Given the description of an element on the screen output the (x, y) to click on. 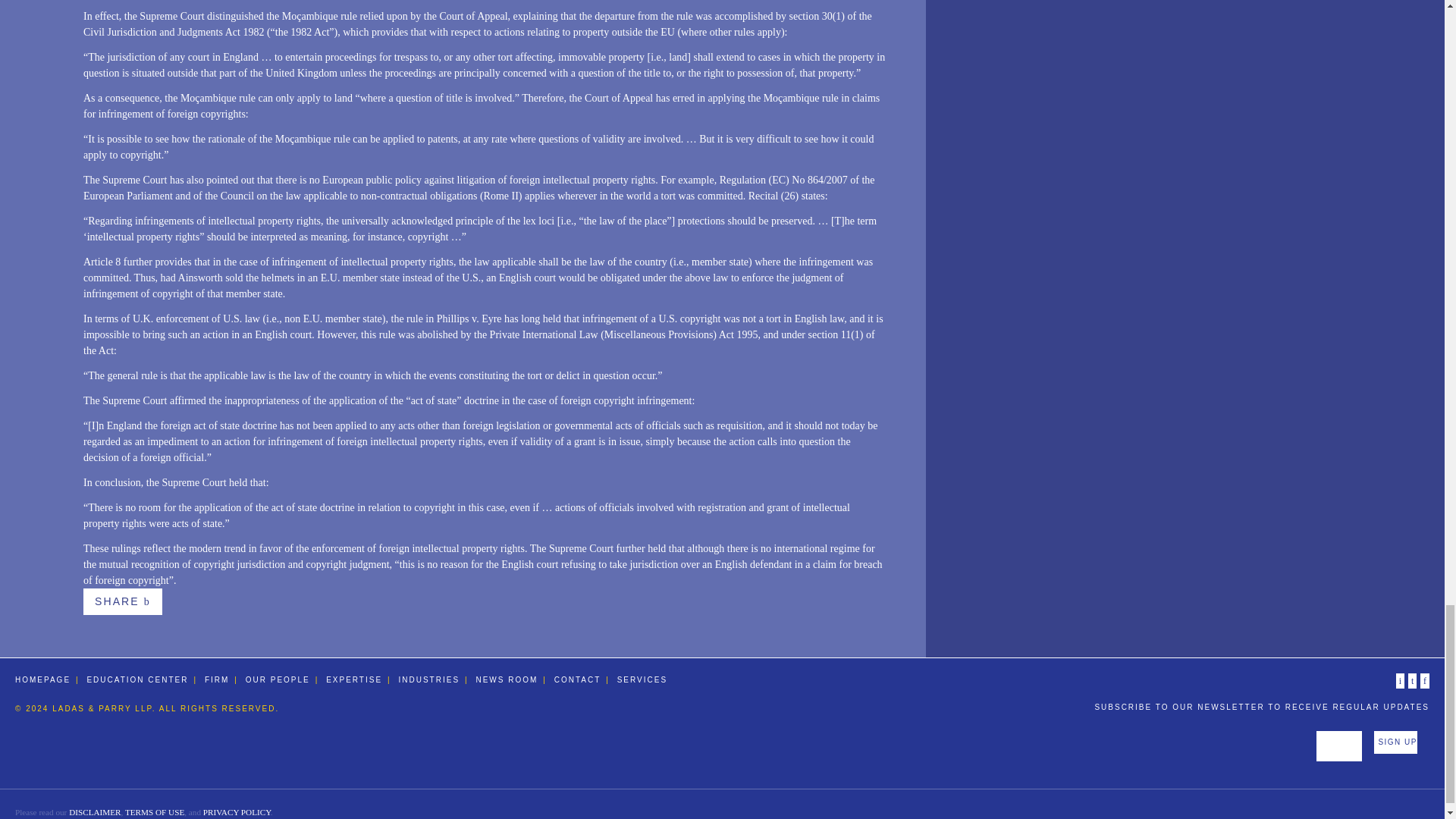
Sign Up (1395, 742)
